Given the description of an element on the screen output the (x, y) to click on. 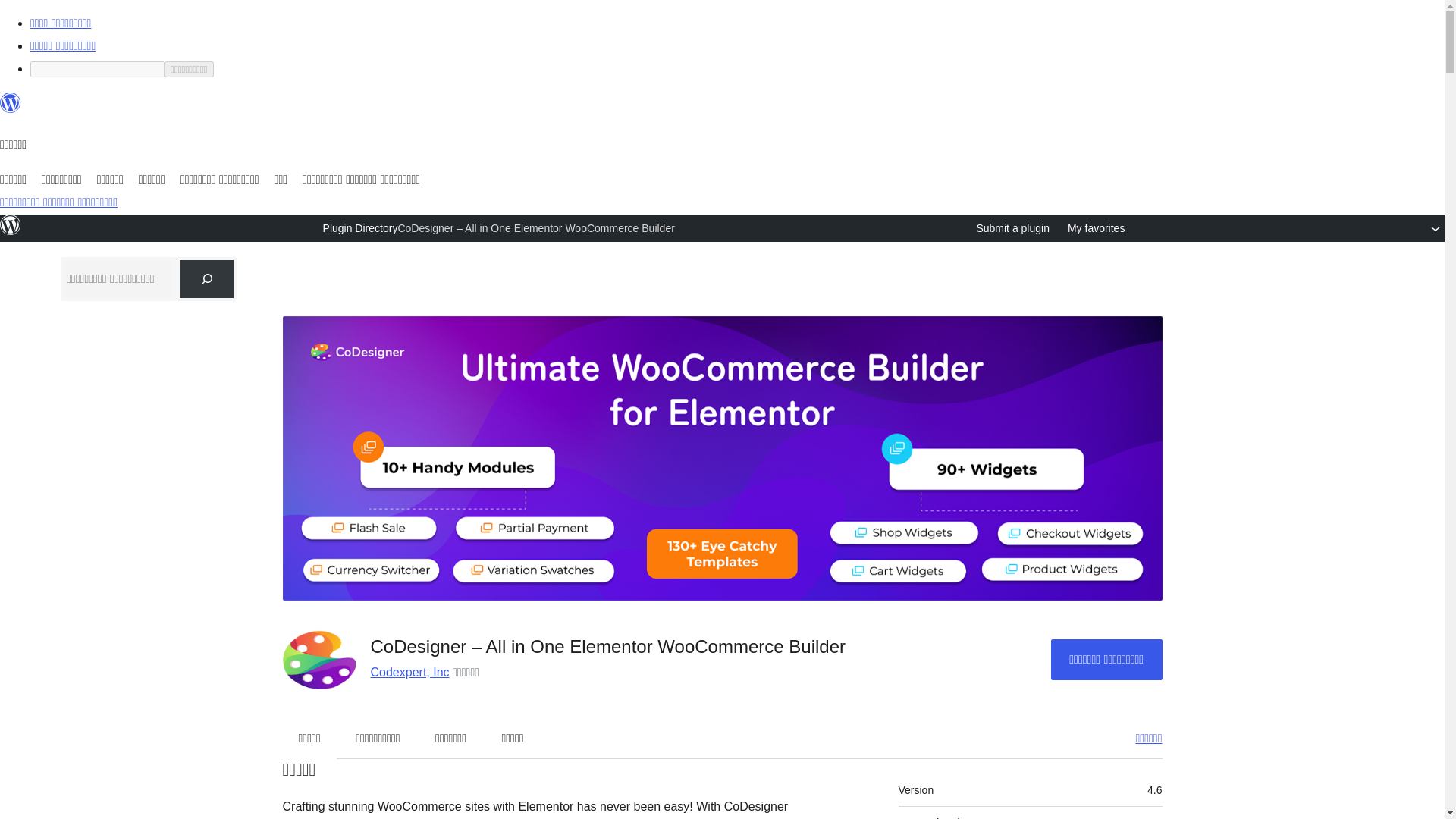
Submit a plugin (1012, 228)
WordPress.org (10, 102)
WordPress.org (10, 224)
Codexpert, Inc (408, 671)
WordPress.org (10, 232)
Plugin Directory (360, 227)
WordPress.org (10, 109)
My favorites (1095, 228)
